Given the description of an element on the screen output the (x, y) to click on. 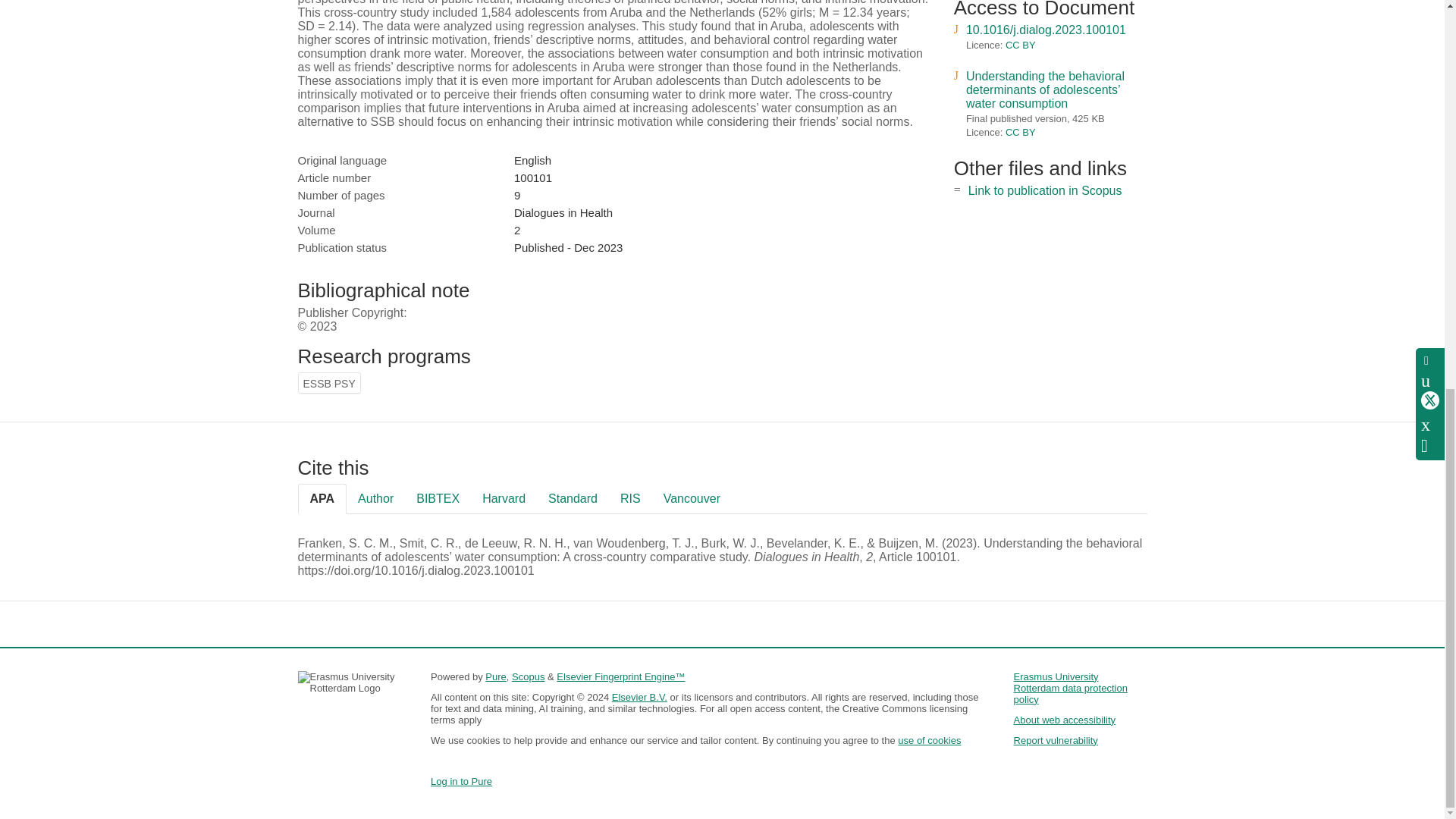
Link to publication in Scopus (1045, 190)
Pure (494, 676)
Scopus (528, 676)
Elsevier B.V. (638, 696)
CC BY (1020, 132)
use of cookies (929, 740)
CC BY (1020, 44)
